Given the description of an element on the screen output the (x, y) to click on. 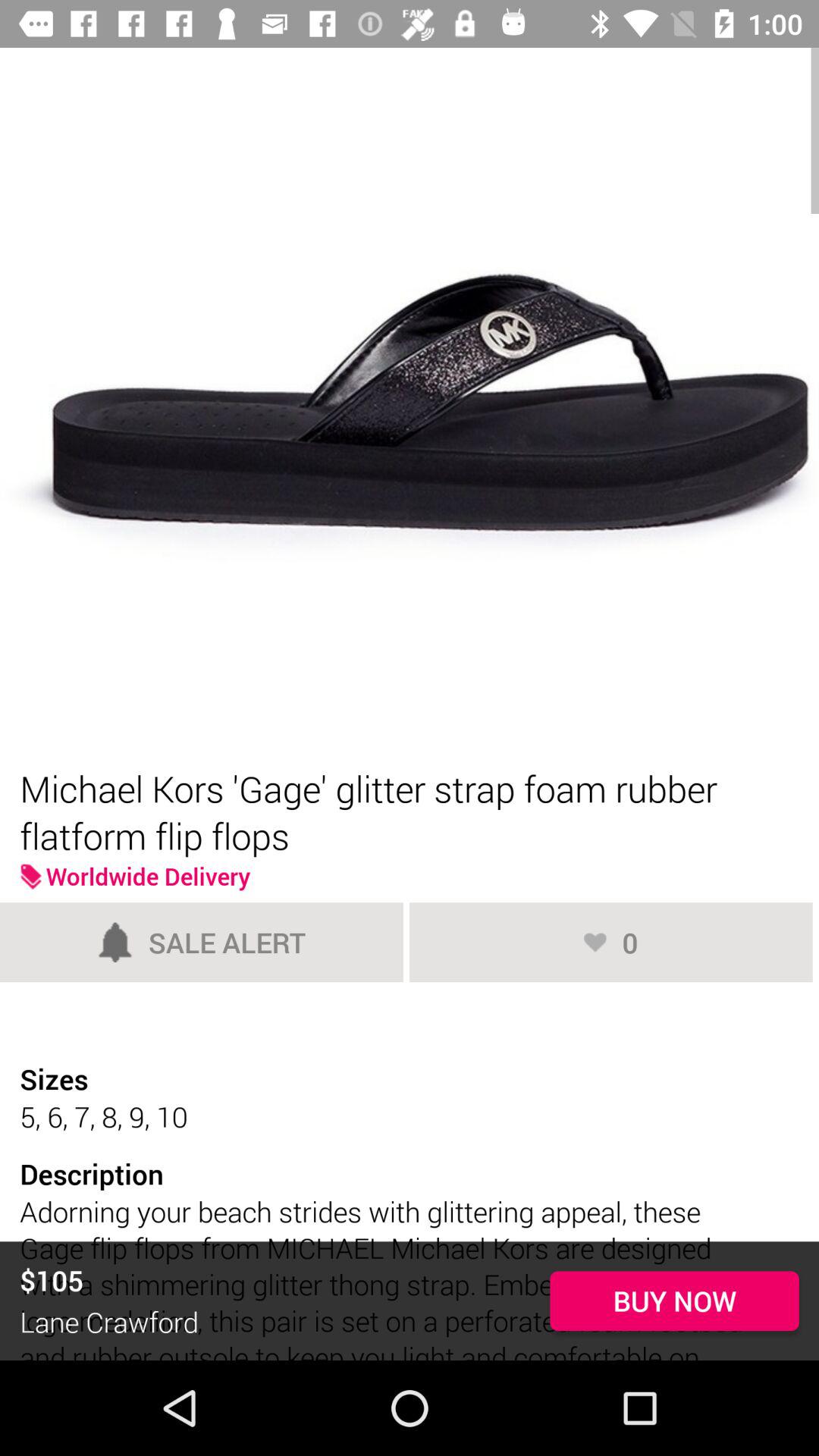
click on grey color button with text 0 (611, 941)
